Given the description of an element on the screen output the (x, y) to click on. 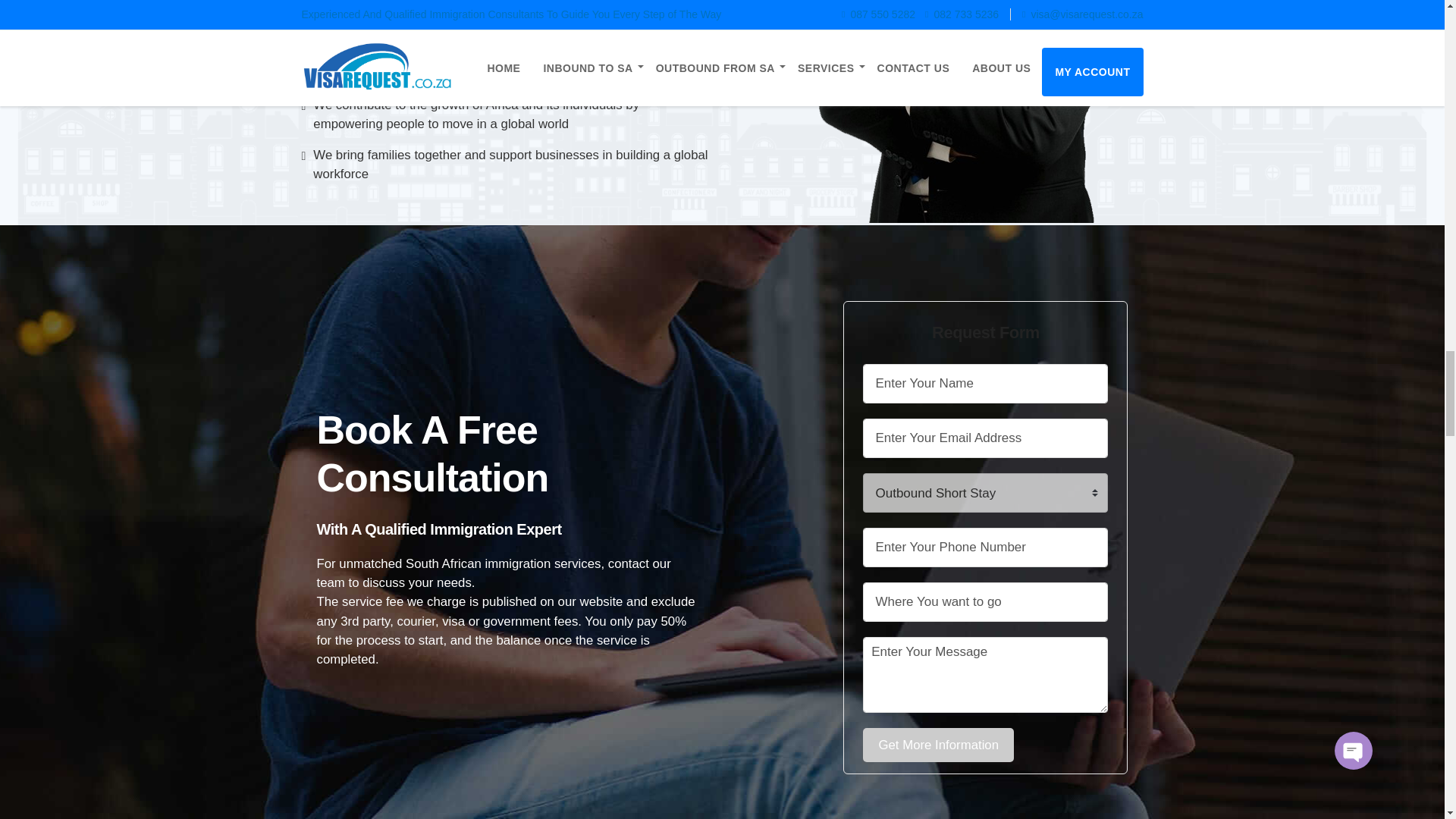
Get More Information (938, 745)
